Given the description of an element on the screen output the (x, y) to click on. 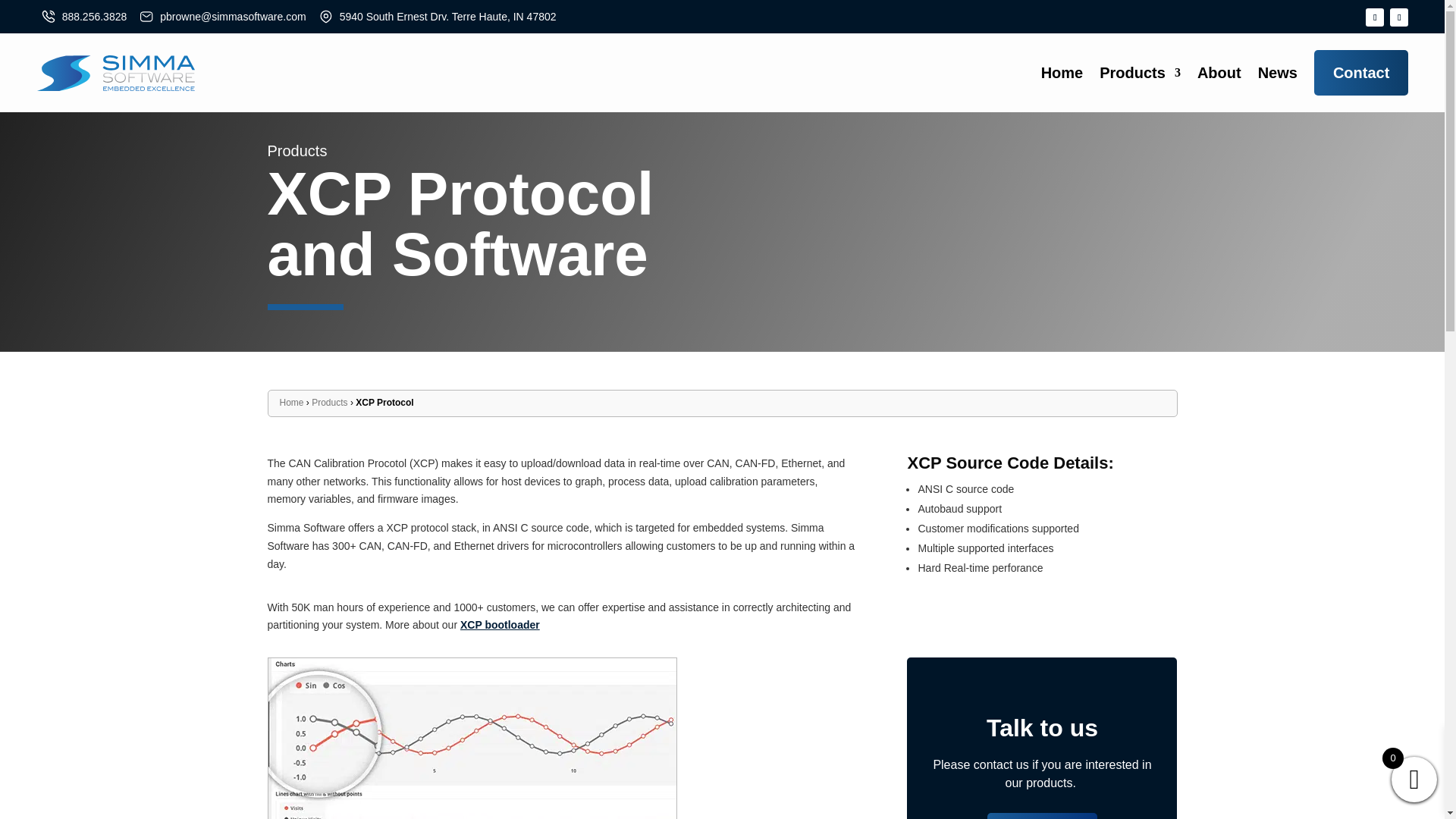
Products (1139, 72)
Follow on LinkedIn (1398, 17)
Follow on Facebook (1374, 17)
Contact (1360, 72)
